Given the description of an element on the screen output the (x, y) to click on. 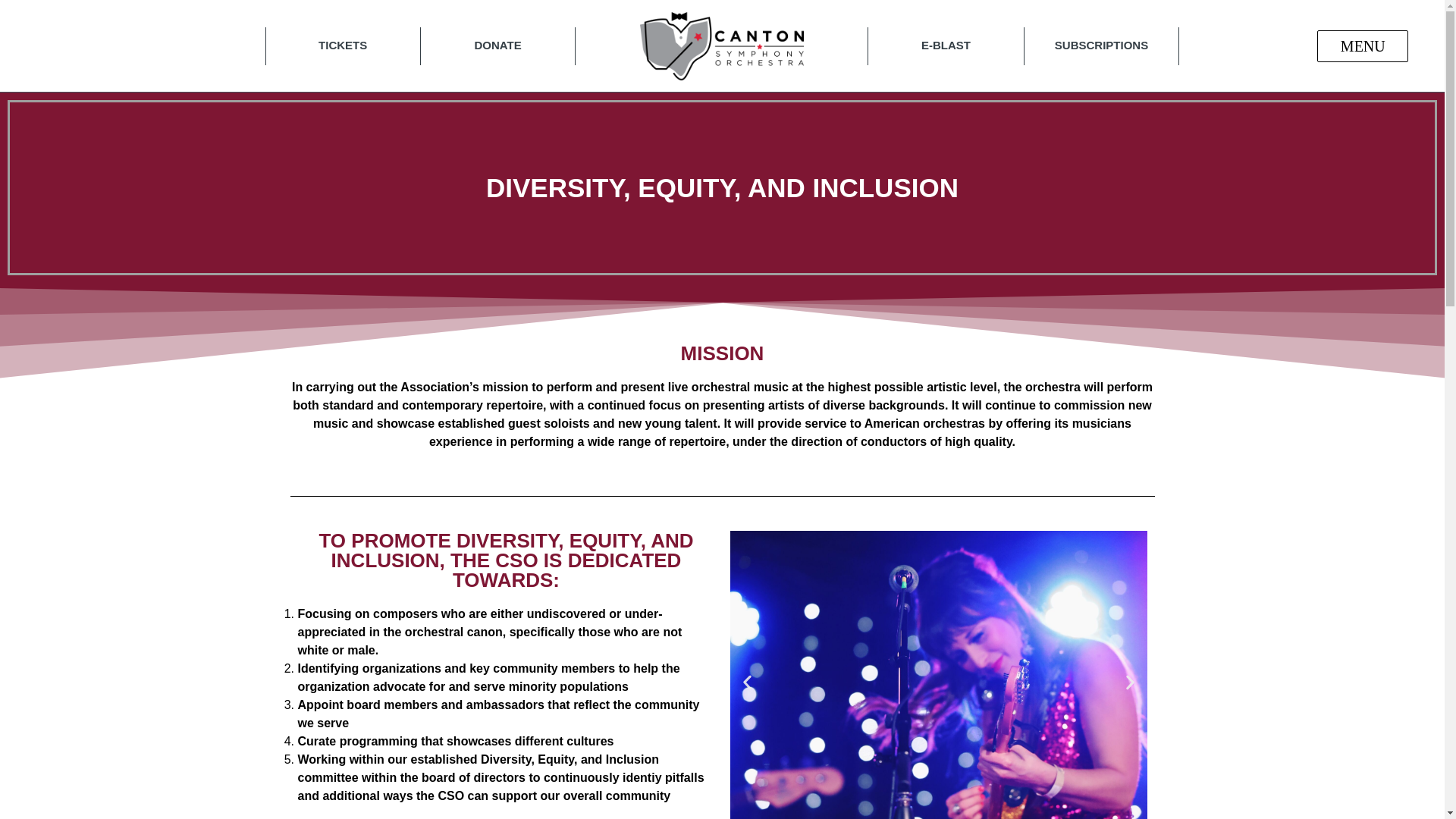
MENU (1362, 46)
E-BLAST (945, 46)
SUBSCRIPTIONS (1101, 46)
TICKETS (342, 46)
DONATE (498, 46)
